Given the description of an element on the screen output the (x, y) to click on. 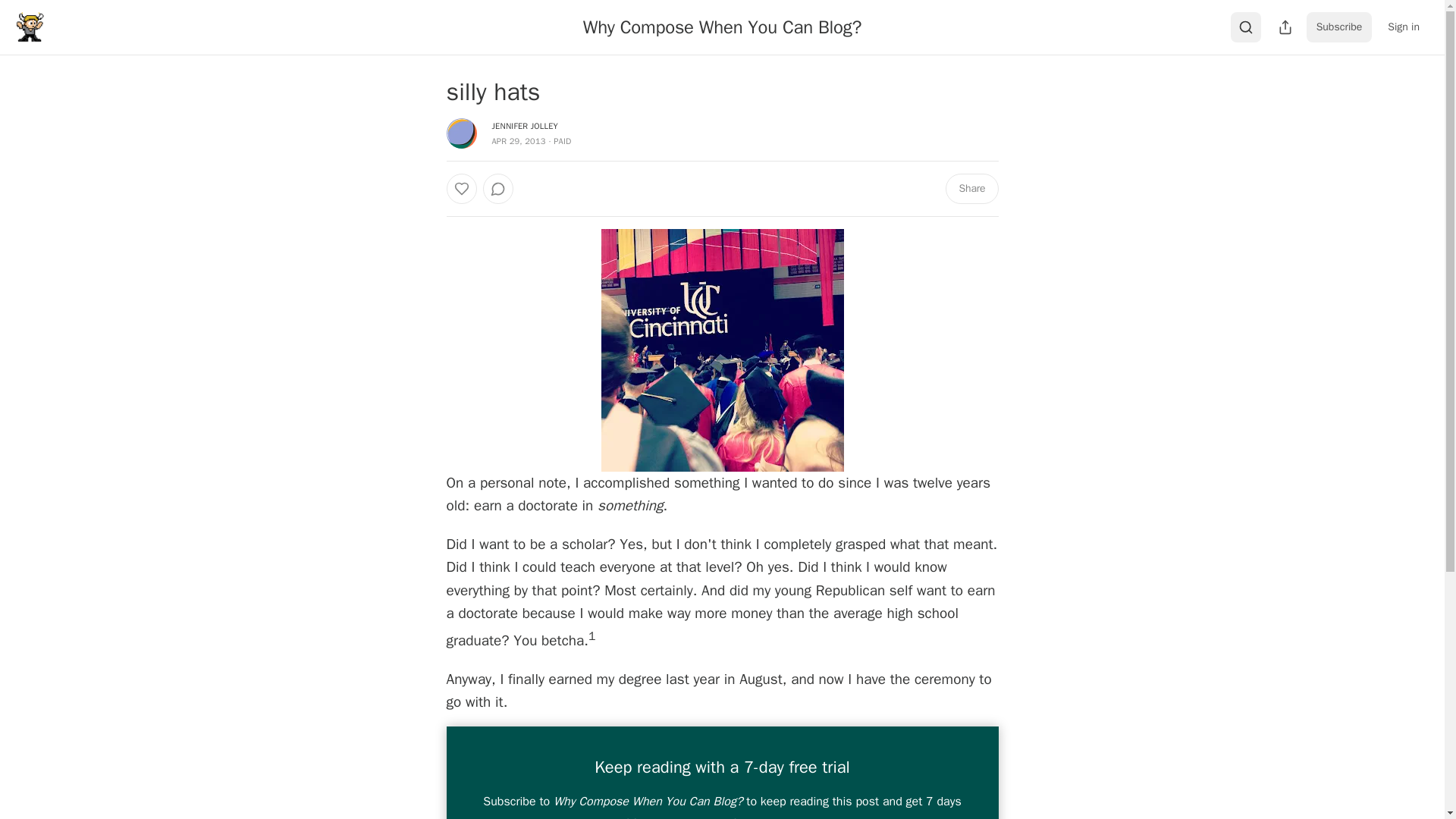
Why Compose When You Can Blog? (722, 26)
Subscribe (1339, 27)
Sign in (1403, 27)
JENNIFER JOLLEY (524, 125)
Share (970, 188)
